Given the description of an element on the screen output the (x, y) to click on. 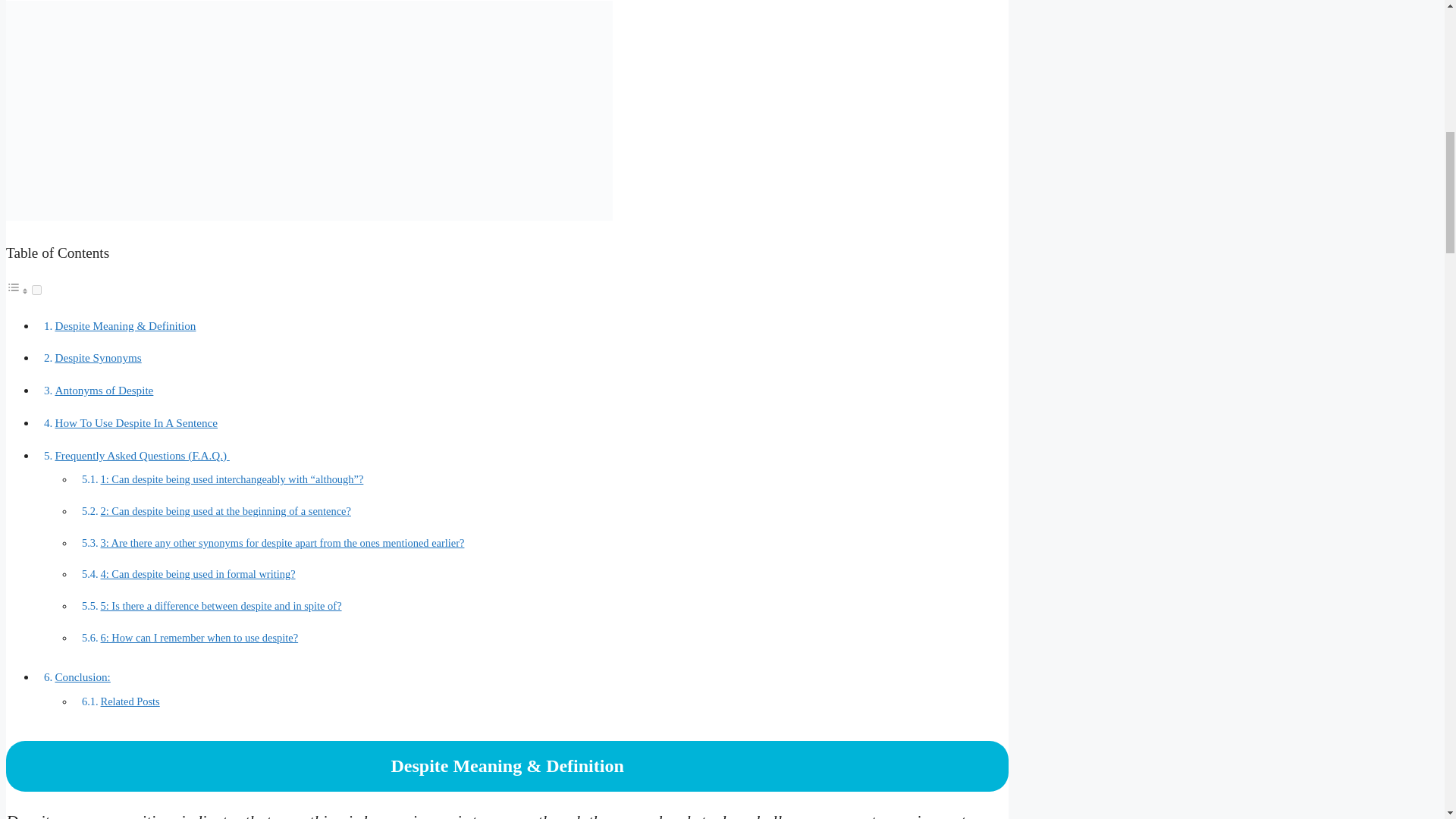
6: How can I remember when to use despite? (199, 637)
Conclusion: (82, 676)
2: Can despite being used at the beginning of a sentence? (225, 510)
5: Is there a difference between despite and in spite of? (221, 605)
on (37, 289)
5: Is there a difference between despite and in spite of? (221, 605)
4: Can despite being used in formal writing? (197, 573)
How To Use Despite In A Sentence (135, 422)
Despite Synonyms (98, 357)
How To Use Despite In A Sentence (135, 422)
